Given the description of an element on the screen output the (x, y) to click on. 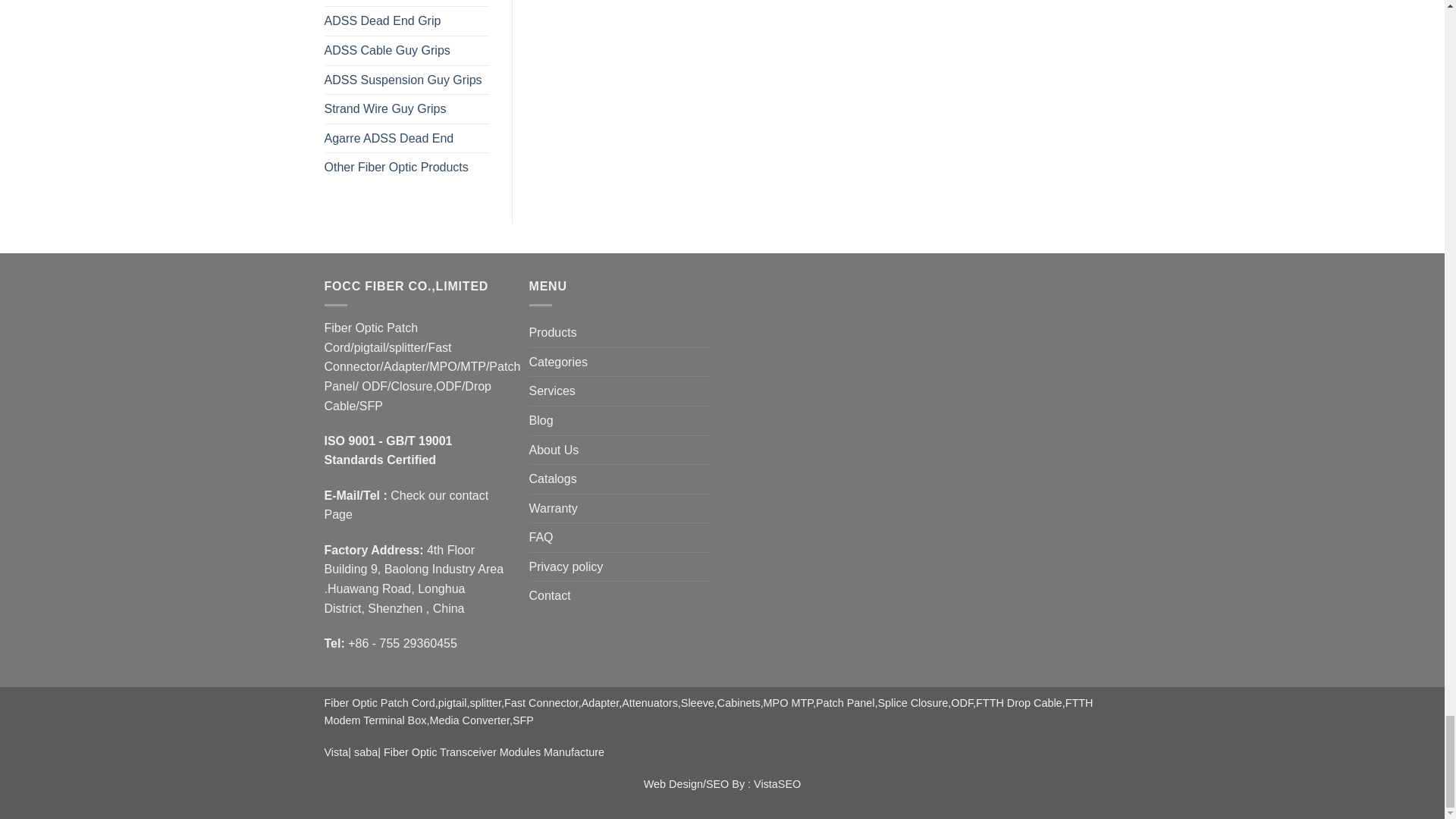
sabacable.com (365, 752)
vistacable (336, 752)
